Given the description of an element on the screen output the (x, y) to click on. 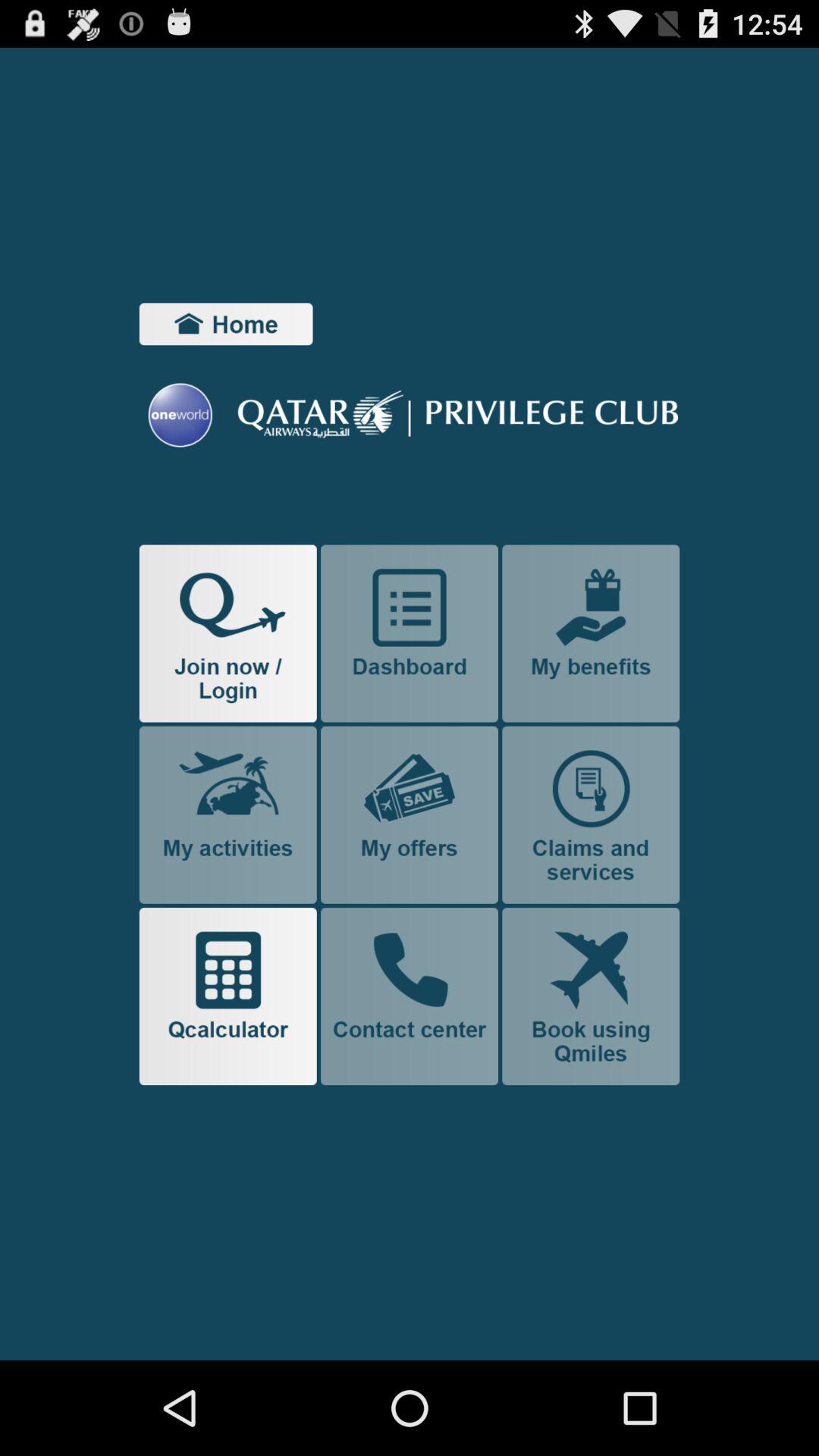
call contact center (409, 996)
